Given the description of an element on the screen output the (x, y) to click on. 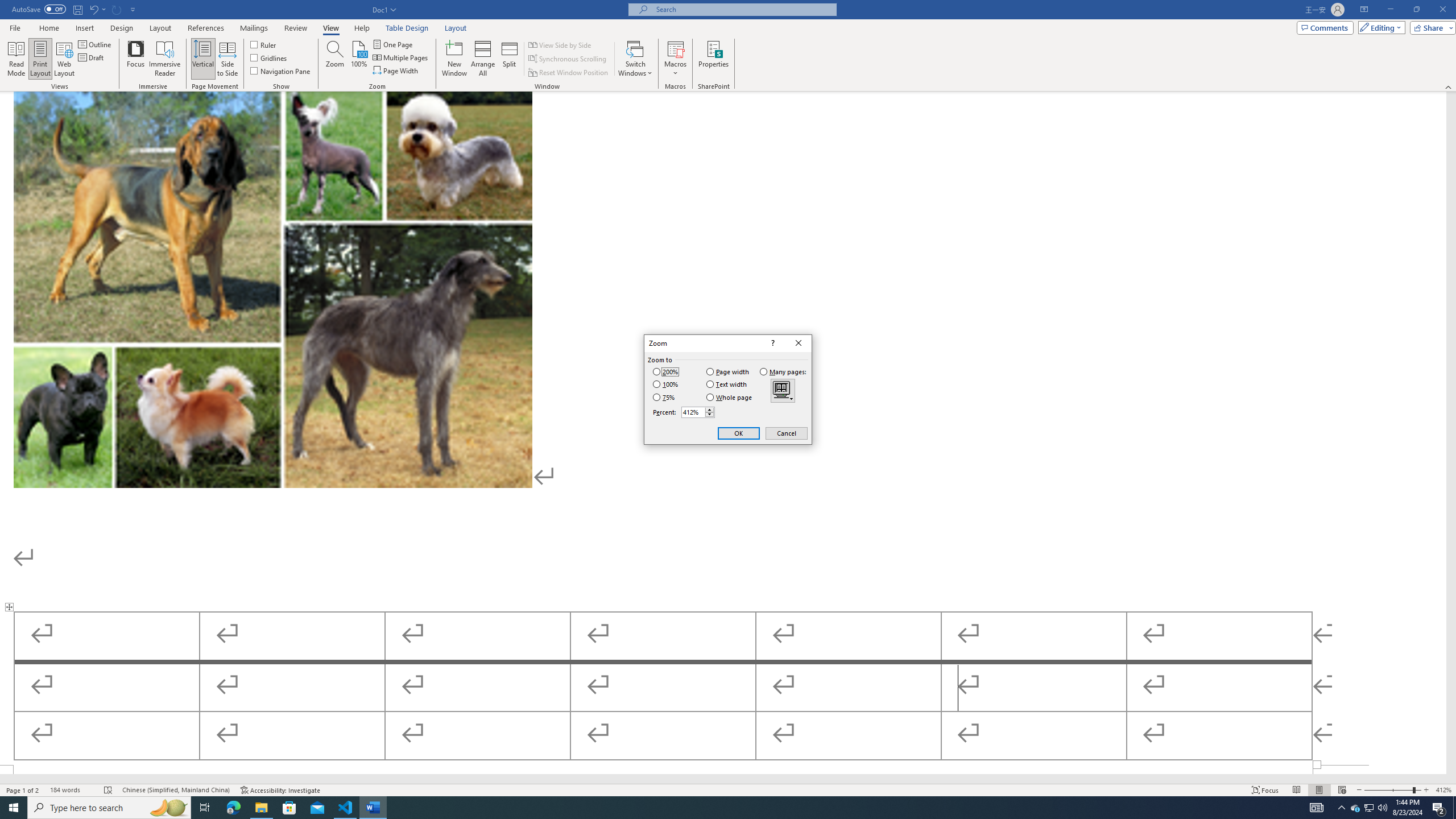
Split (509, 58)
200% (665, 371)
